Given the description of an element on the screen output the (x, y) to click on. 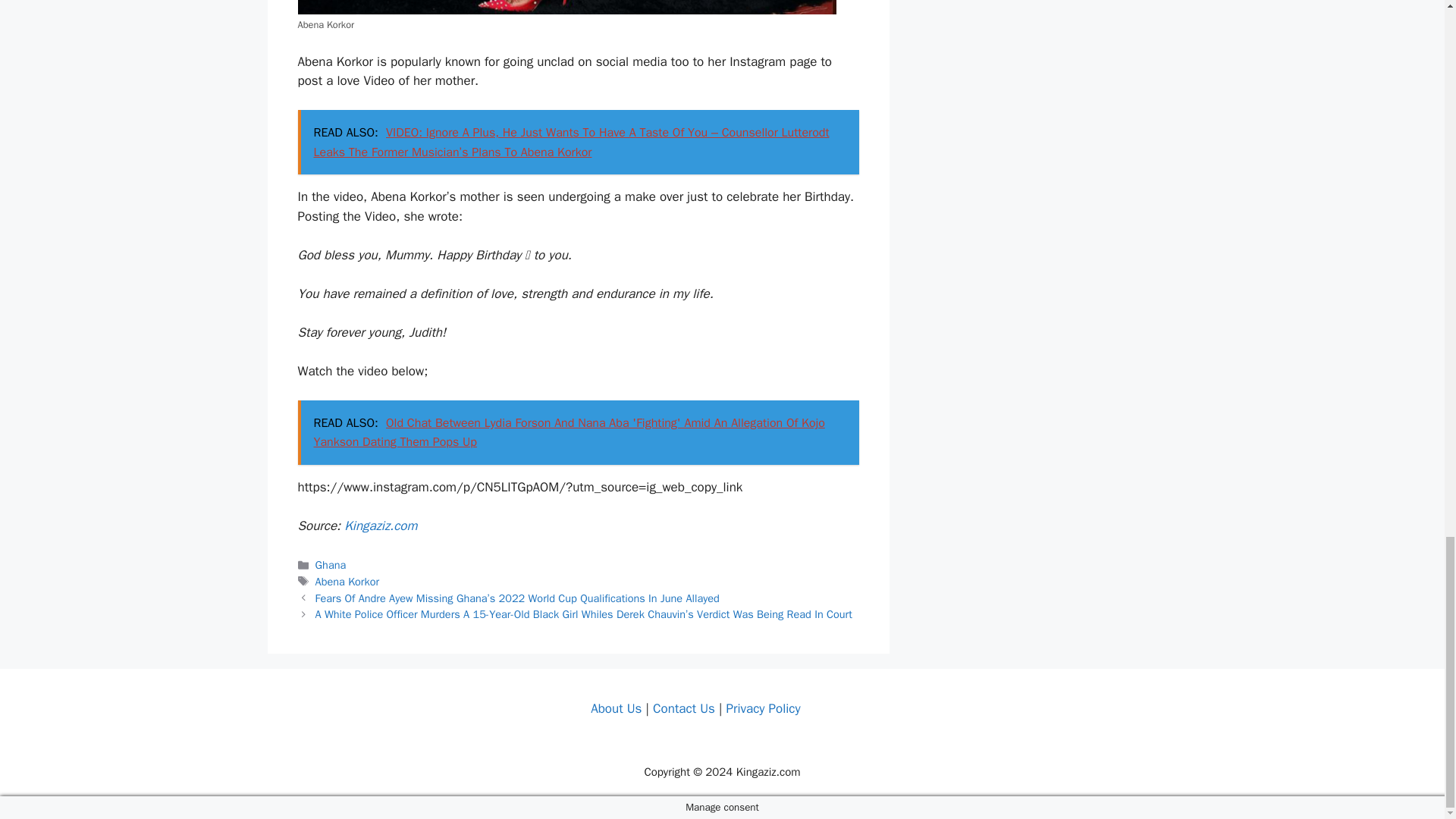
Abena Korkor (346, 581)
Contact Us (683, 708)
Kingaziz.com (379, 525)
About Us (616, 708)
Ghana (330, 564)
Privacy Policy (762, 708)
